Given the description of an element on the screen output the (x, y) to click on. 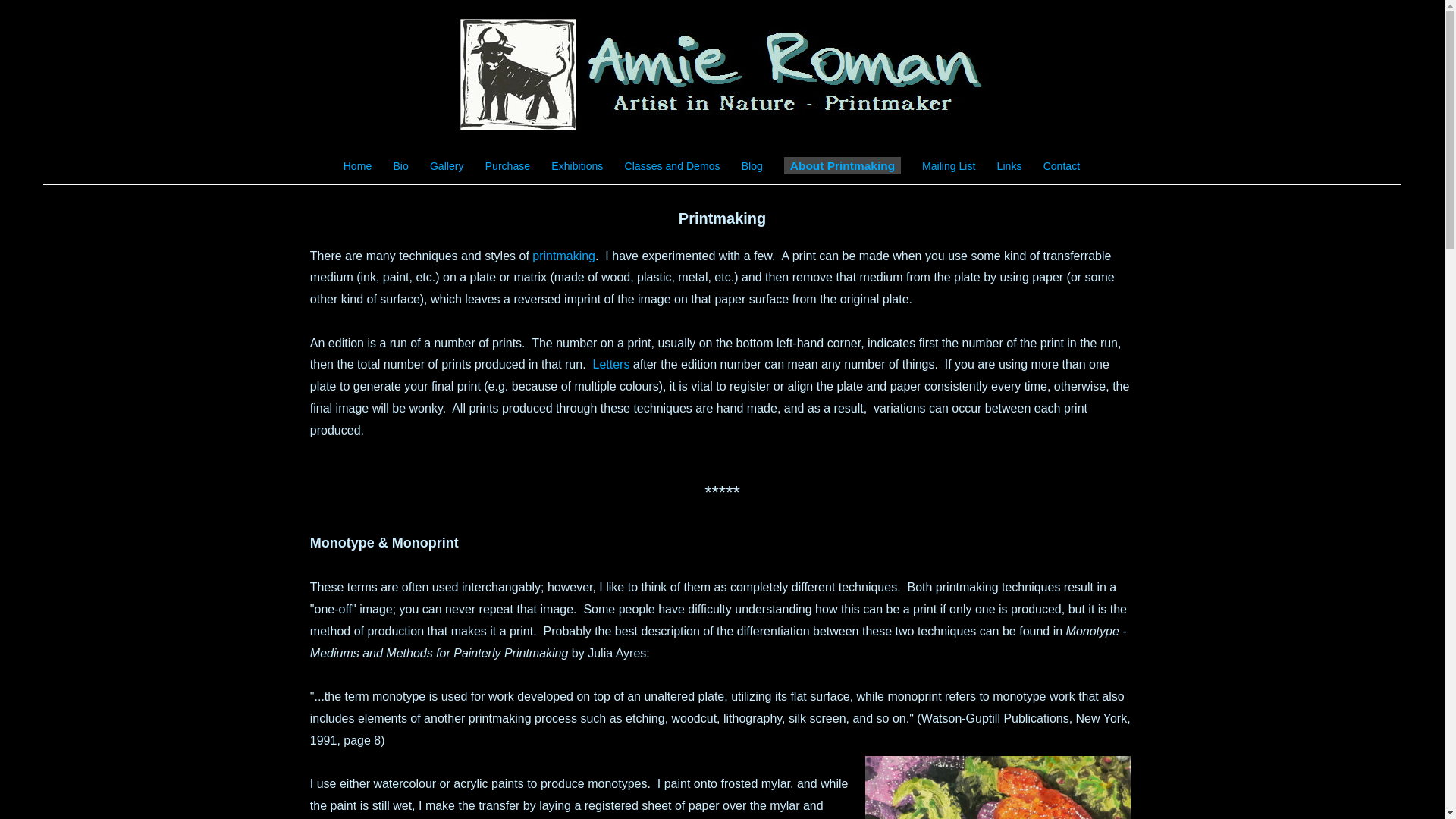
Links Element type: text (1009, 166)
Blog Element type: text (751, 166)
Purchase Element type: text (507, 166)
Classes and Demos Element type: text (672, 166)
Bio Element type: text (399, 166)
Letters Element type: text (610, 363)
Gallery Element type: text (446, 166)
Home Element type: text (357, 166)
Amie Roman - Printmaker - Artist in Nature Element type: hover (722, 74)
Mailing List Element type: text (948, 166)
printmaking Element type: text (563, 254)
Contact Element type: text (1061, 166)
Exhibitions Element type: text (576, 166)
About Printmaking Element type: text (842, 165)
